Given the description of an element on the screen output the (x, y) to click on. 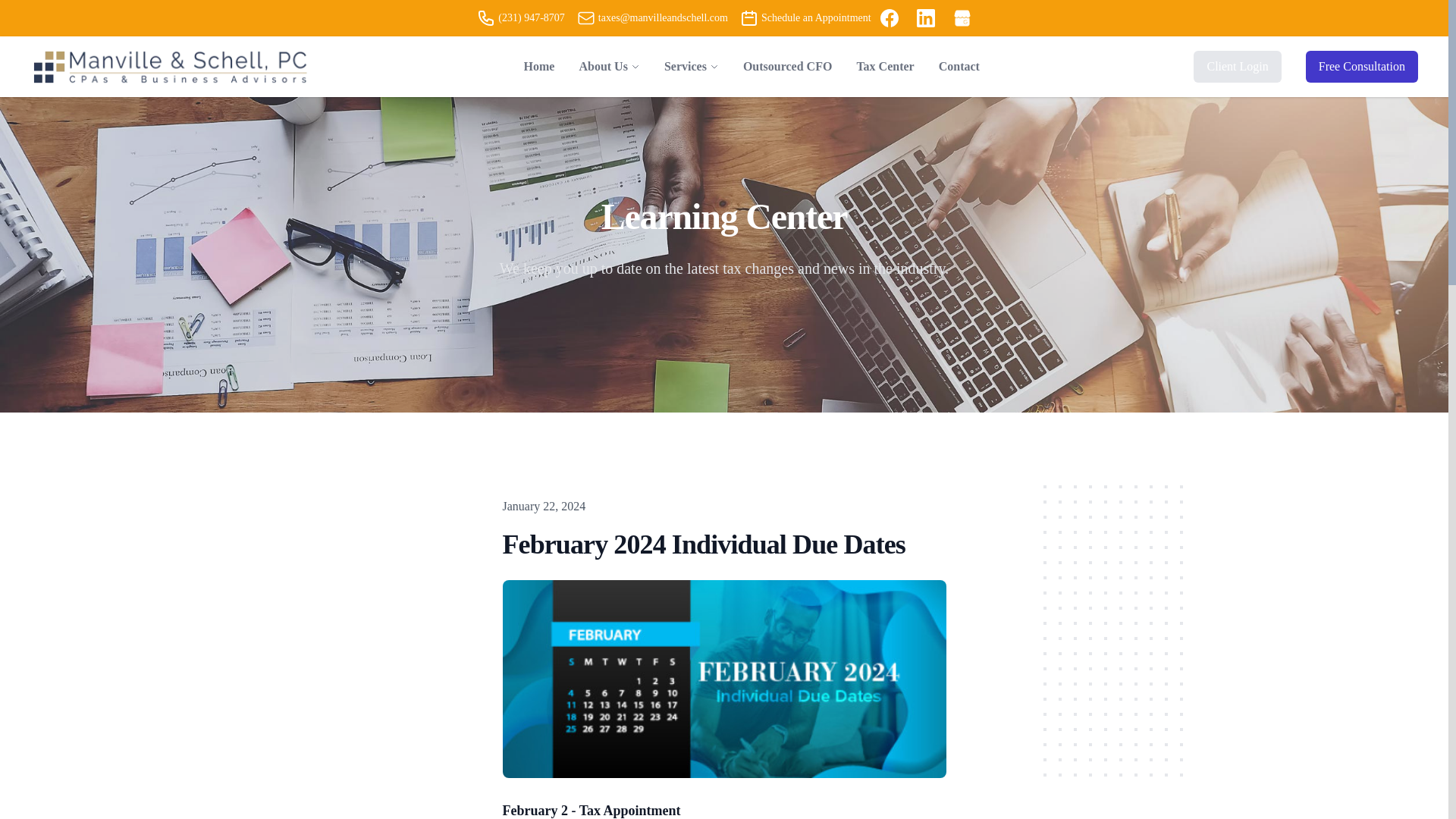
Outsourced CFO (787, 66)
LinkedIn (925, 18)
About Us (602, 66)
Google My Business (962, 18)
Free Consultation (1362, 66)
Home (539, 66)
Home (539, 66)
Schedule an Appointment (748, 18)
Facebook (889, 18)
Contact (958, 66)
